Given the description of an element on the screen output the (x, y) to click on. 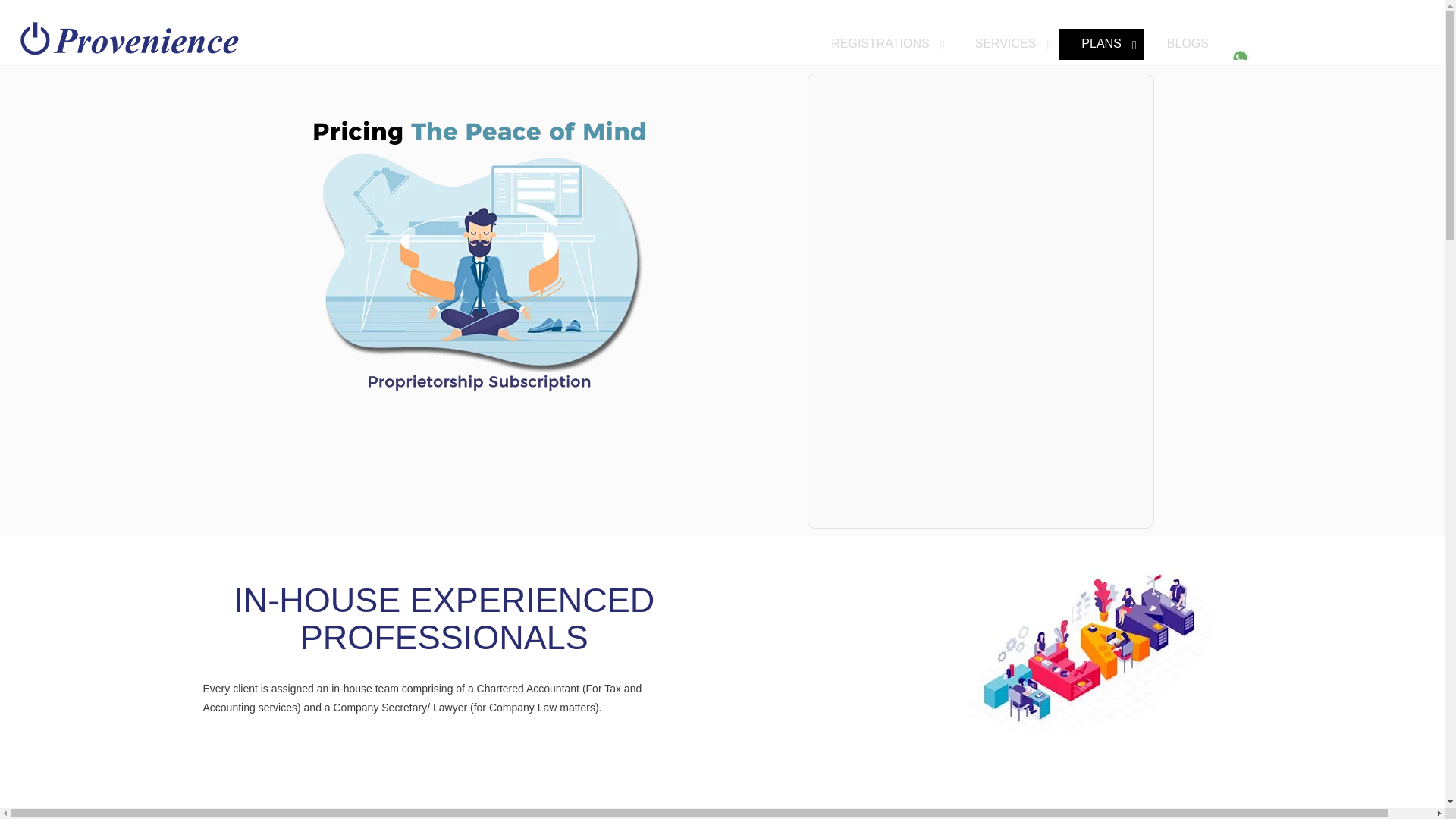
SERVICES (1005, 43)
REGISTRATIONS (857, 43)
